Given the description of an element on the screen output the (x, y) to click on. 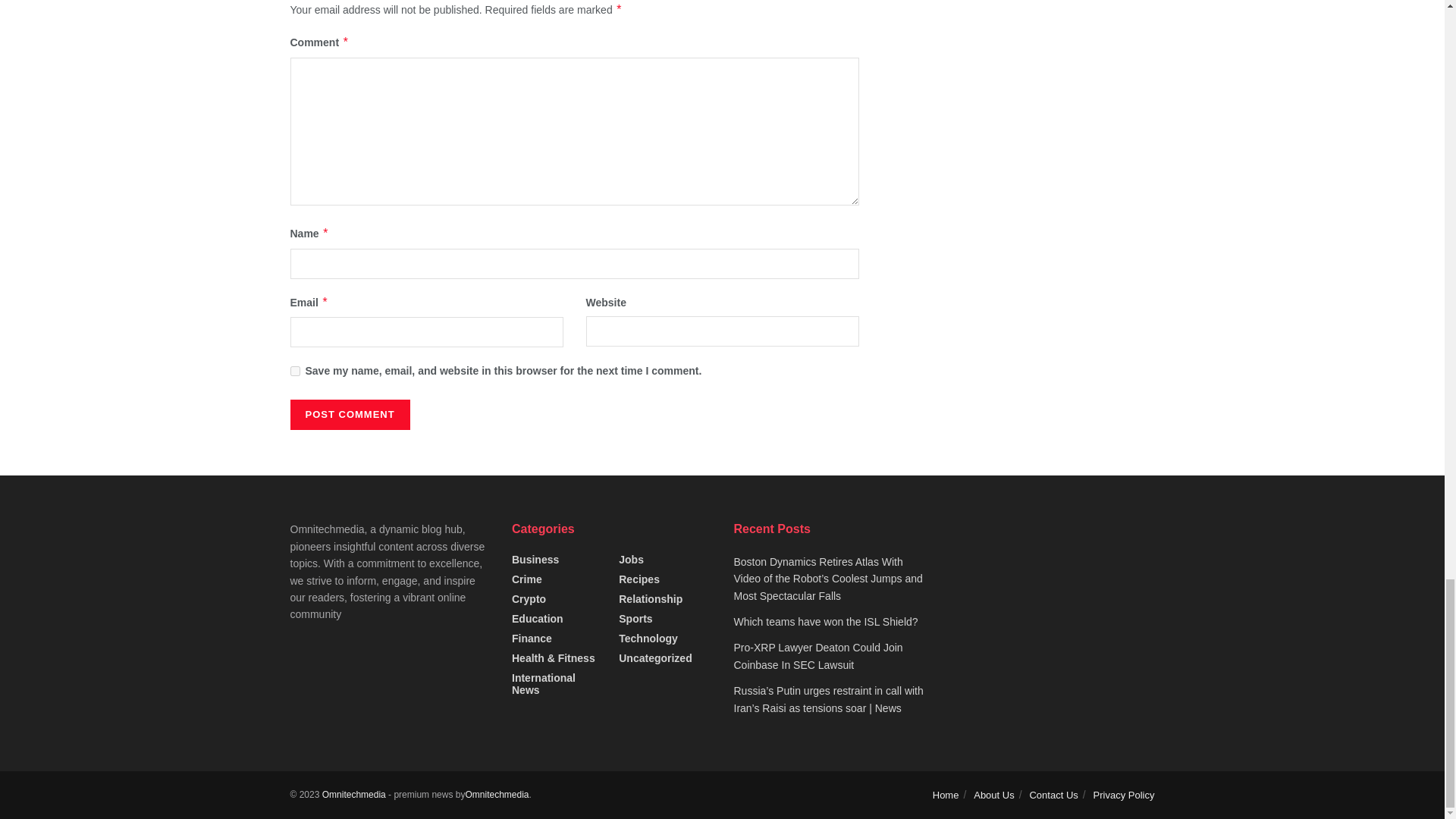
Omnitechmedia (496, 794)
Post Comment (349, 414)
Omnitechmedia (353, 794)
yes (294, 370)
